Given the description of an element on the screen output the (x, y) to click on. 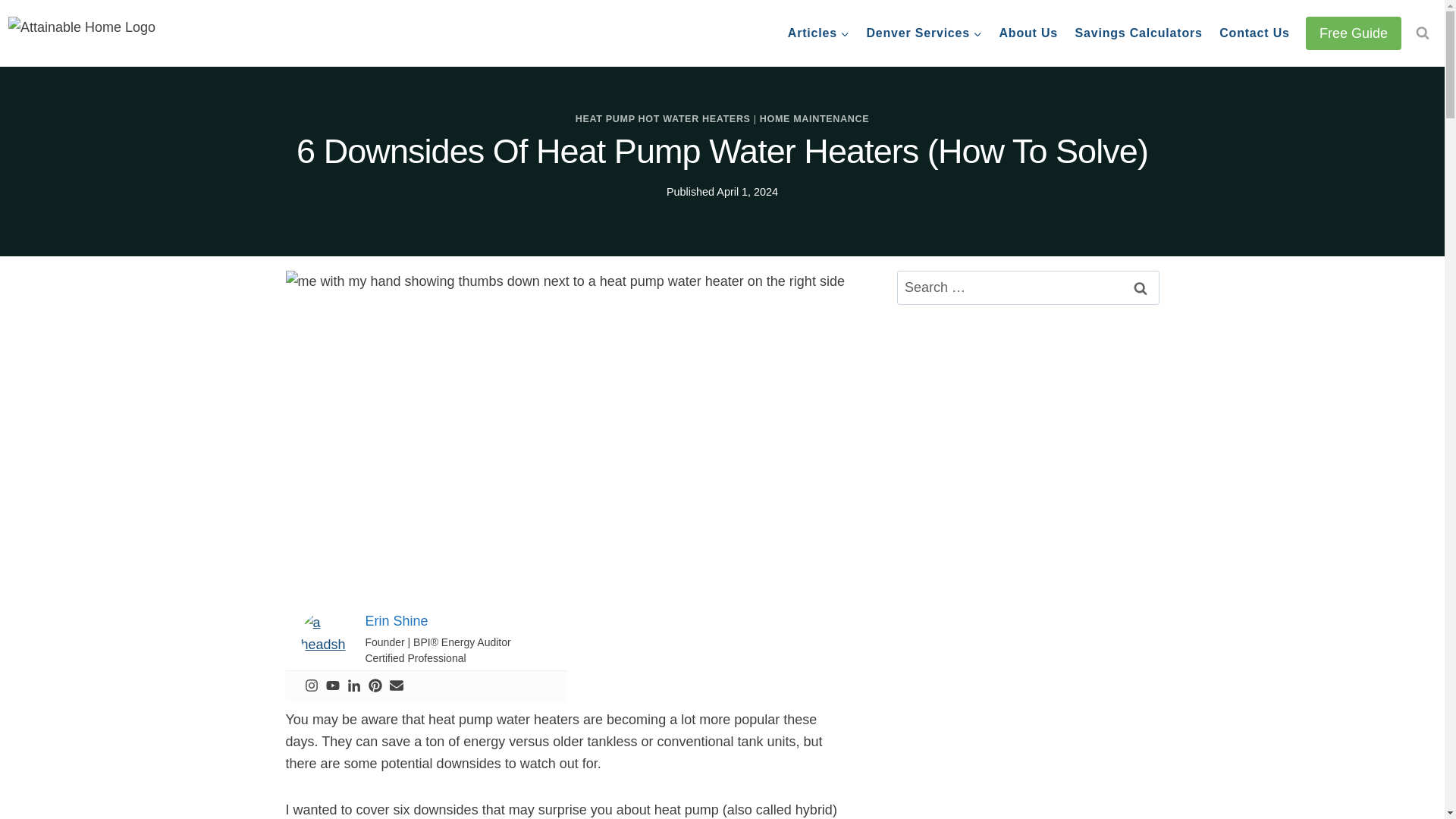
Search (1139, 287)
Articles (818, 33)
Search (1139, 287)
